Given the description of an element on the screen output the (x, y) to click on. 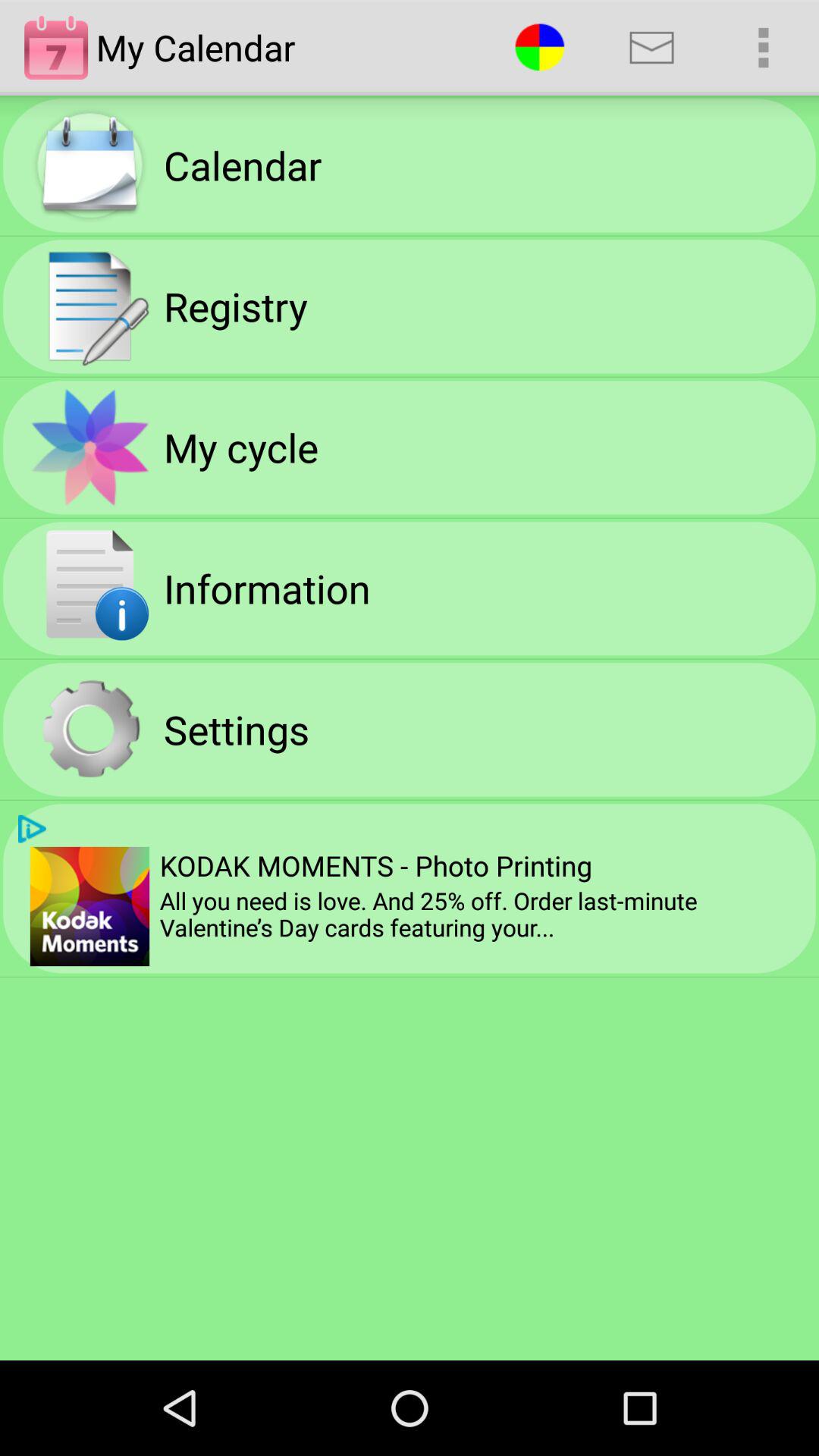
launch app below the my cycle (266, 587)
